Given the description of an element on the screen output the (x, y) to click on. 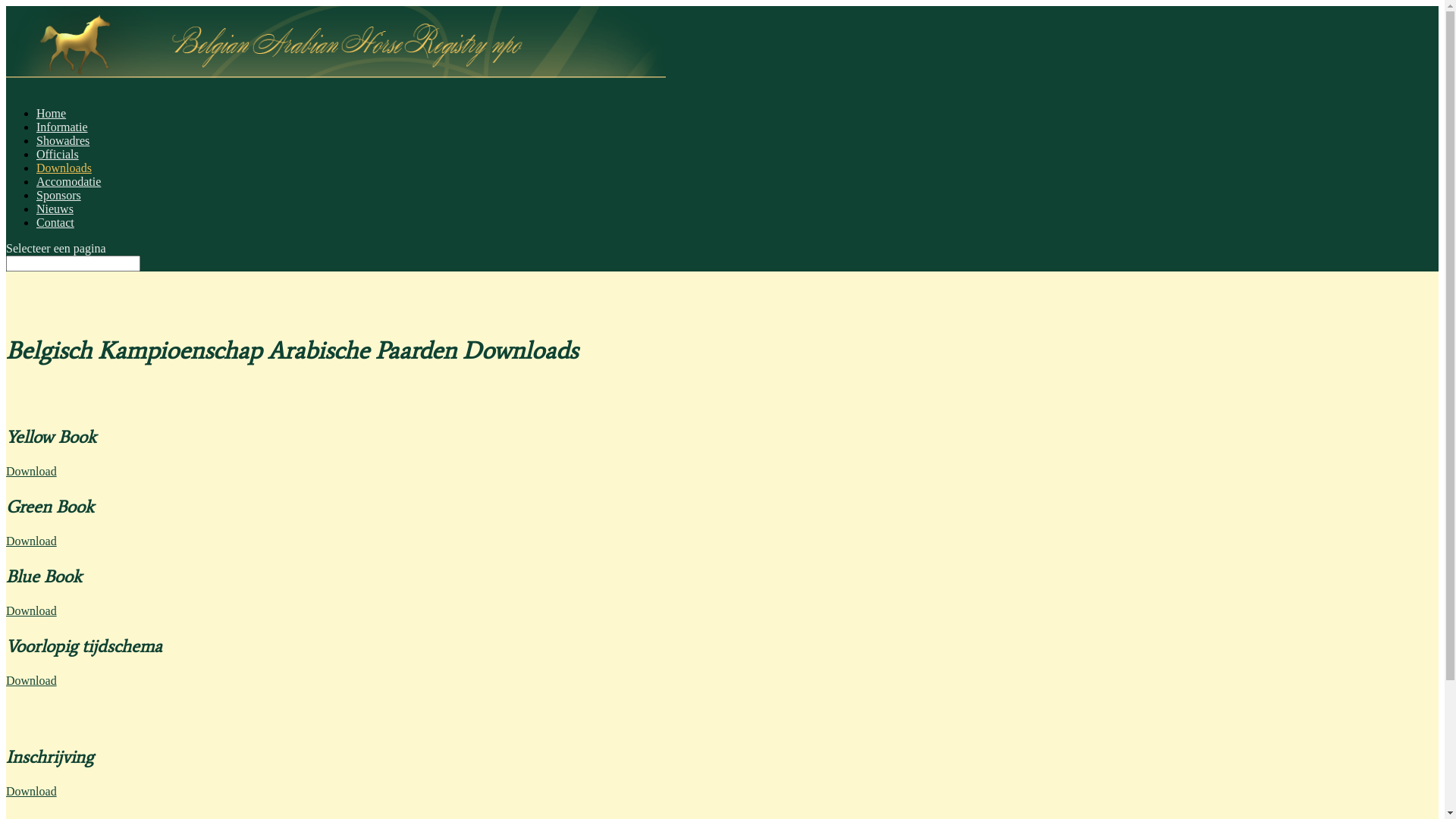
Download Element type: text (31, 680)
Officials Element type: text (57, 161)
Download Element type: text (31, 790)
Contact Element type: text (55, 230)
Zoek naar: Element type: hover (73, 263)
Download Element type: text (31, 470)
Home Element type: text (50, 120)
Informatie Element type: text (61, 134)
Accomodatie Element type: text (68, 189)
Sponsors Element type: text (58, 202)
Download Element type: text (31, 540)
Showadres Element type: text (62, 148)
Downloads Element type: text (63, 175)
Nieuws Element type: text (54, 216)
Download Element type: text (31, 610)
